Given the description of an element on the screen output the (x, y) to click on. 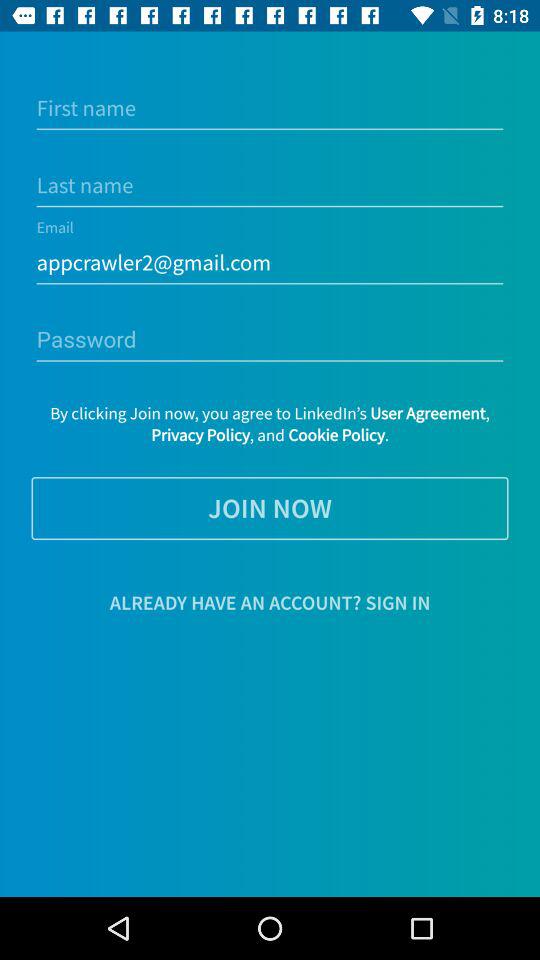
password row (269, 340)
